Given the description of an element on the screen output the (x, y) to click on. 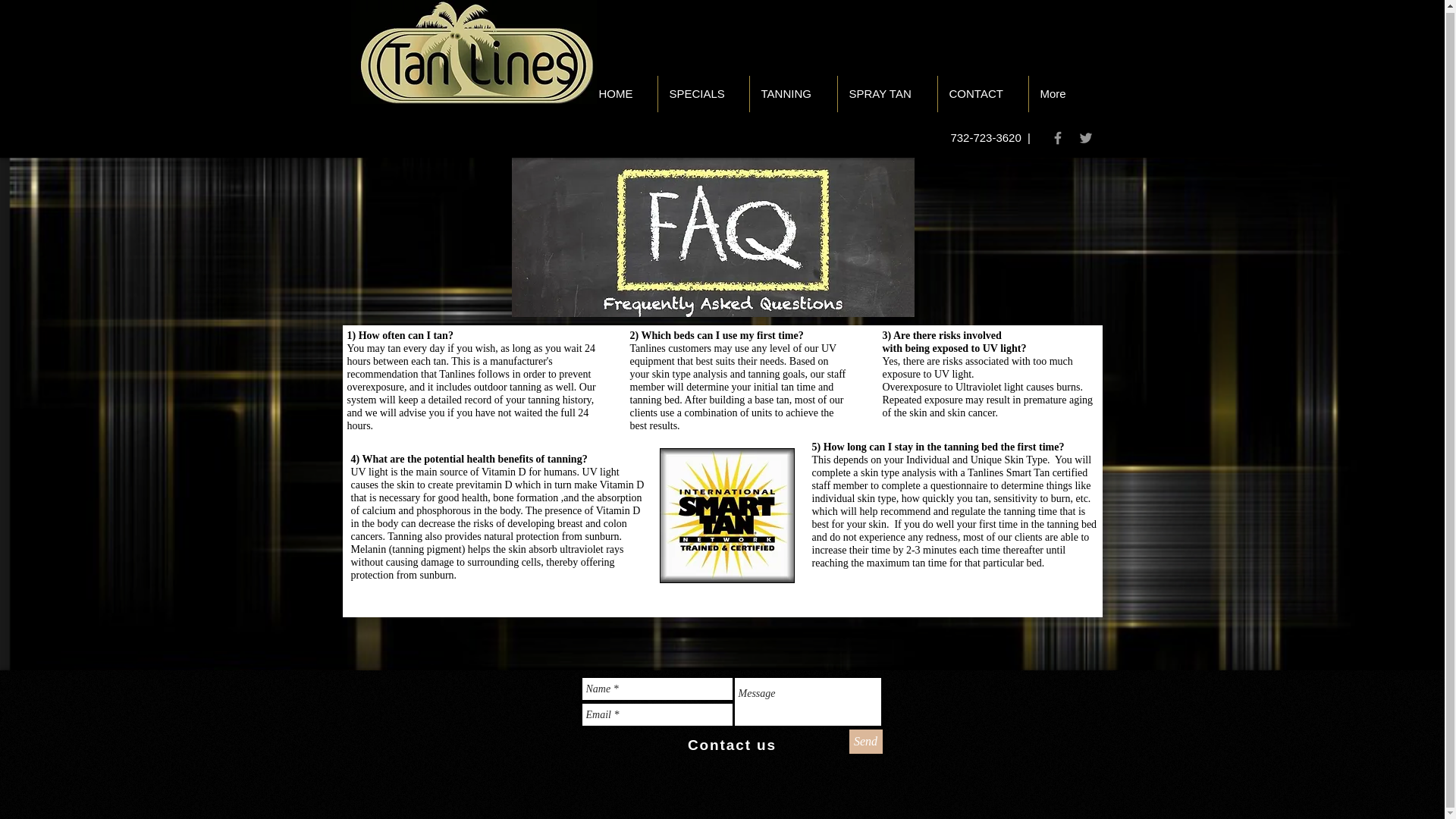
smart tan.jpg (726, 515)
TANNING (792, 92)
SPRAY TAN (886, 92)
faq.jpg (712, 236)
HOME (621, 92)
CONTACT (982, 92)
Send (865, 741)
SPECIALS (703, 92)
